Given the description of an element on the screen output the (x, y) to click on. 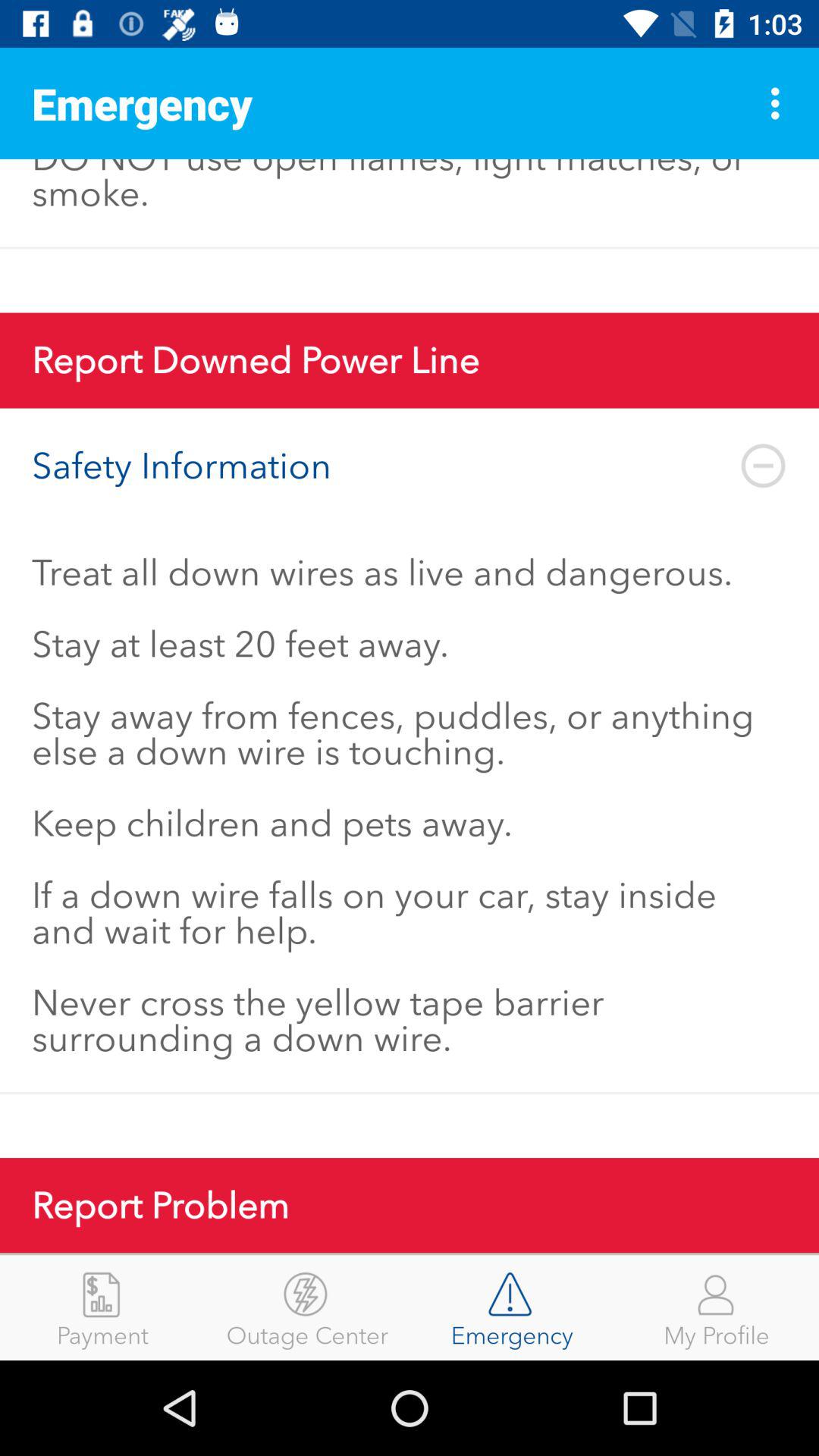
open the icon to the left of emergency (306, 1307)
